Given the description of an element on the screen output the (x, y) to click on. 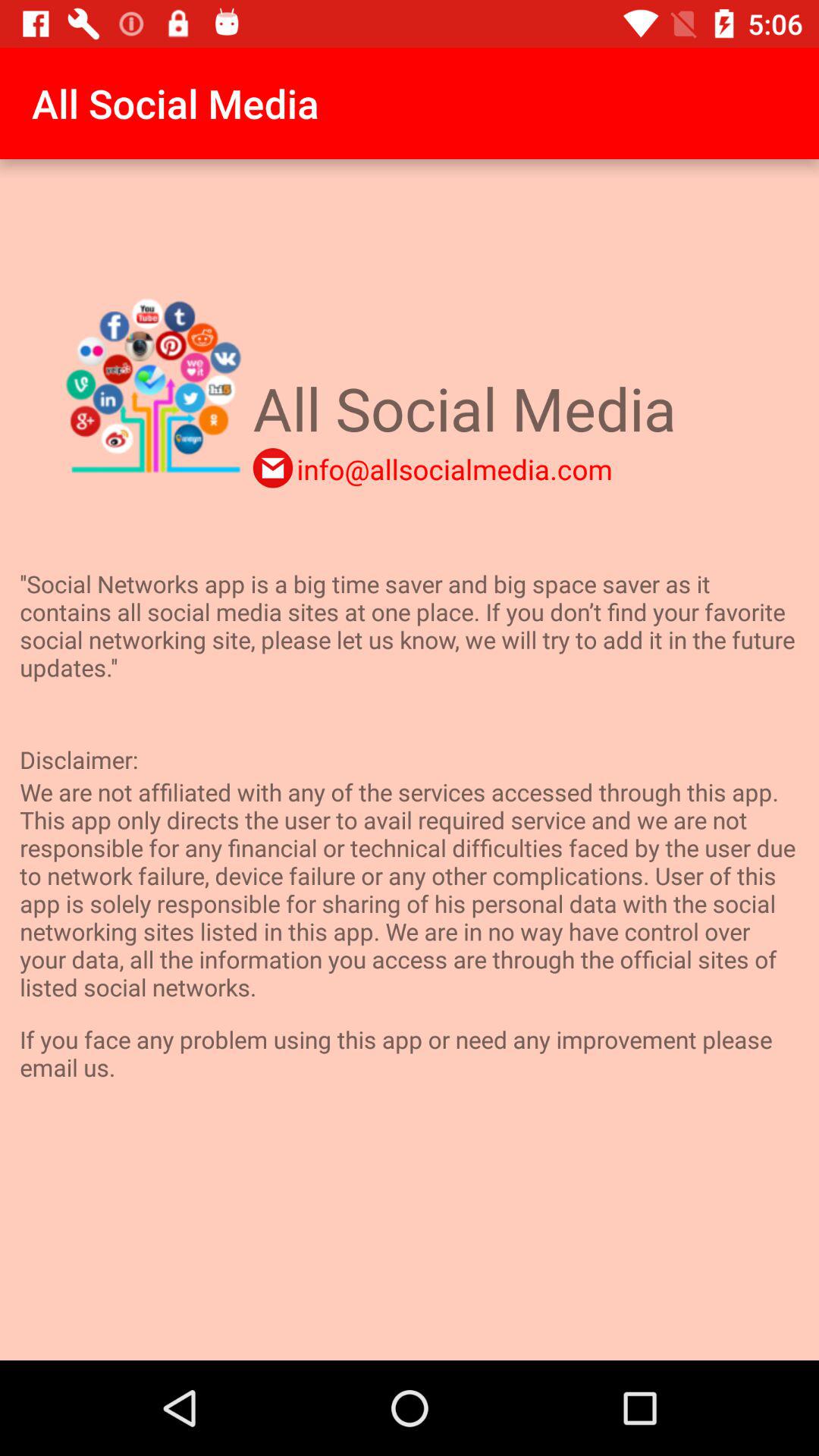
choose the icon next to the info@allsocialmedia.com (272, 467)
